Given the description of an element on the screen output the (x, y) to click on. 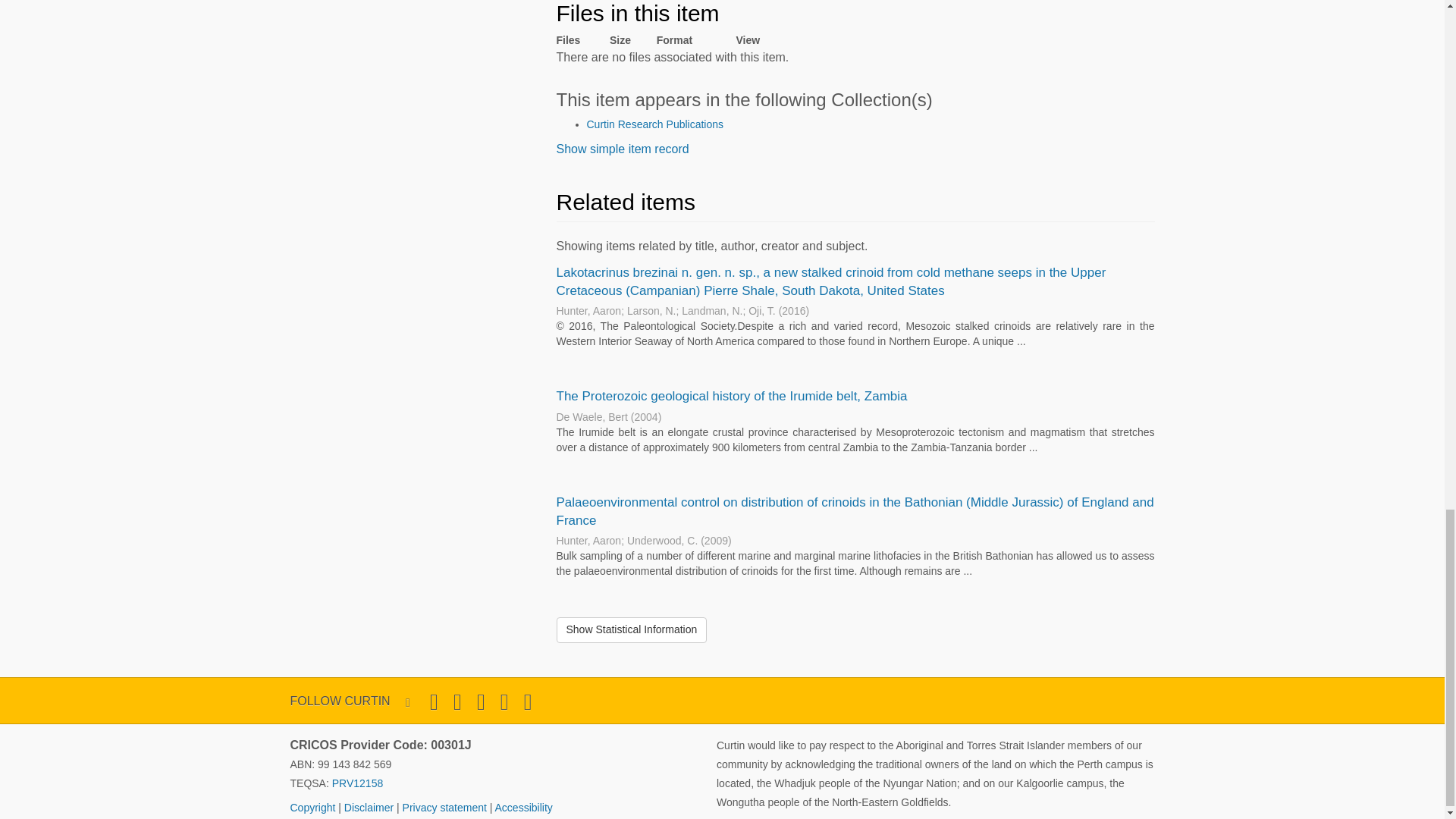
Show Statistical Information (631, 629)
Show simple item record (622, 148)
Curtin Research Publications (654, 123)
